Given the description of an element on the screen output the (x, y) to click on. 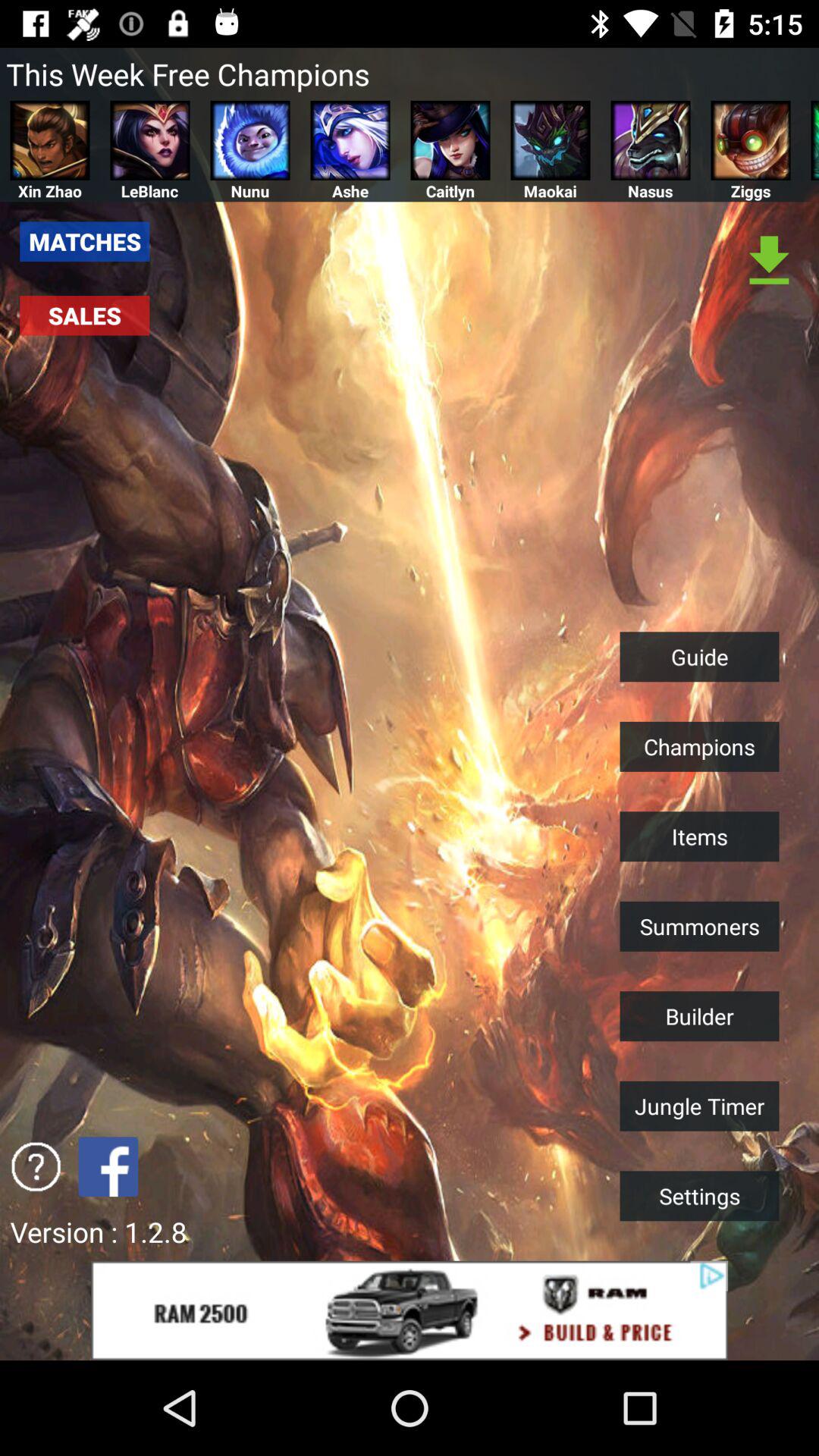
advertisement about car (409, 1310)
